Given the description of an element on the screen output the (x, y) to click on. 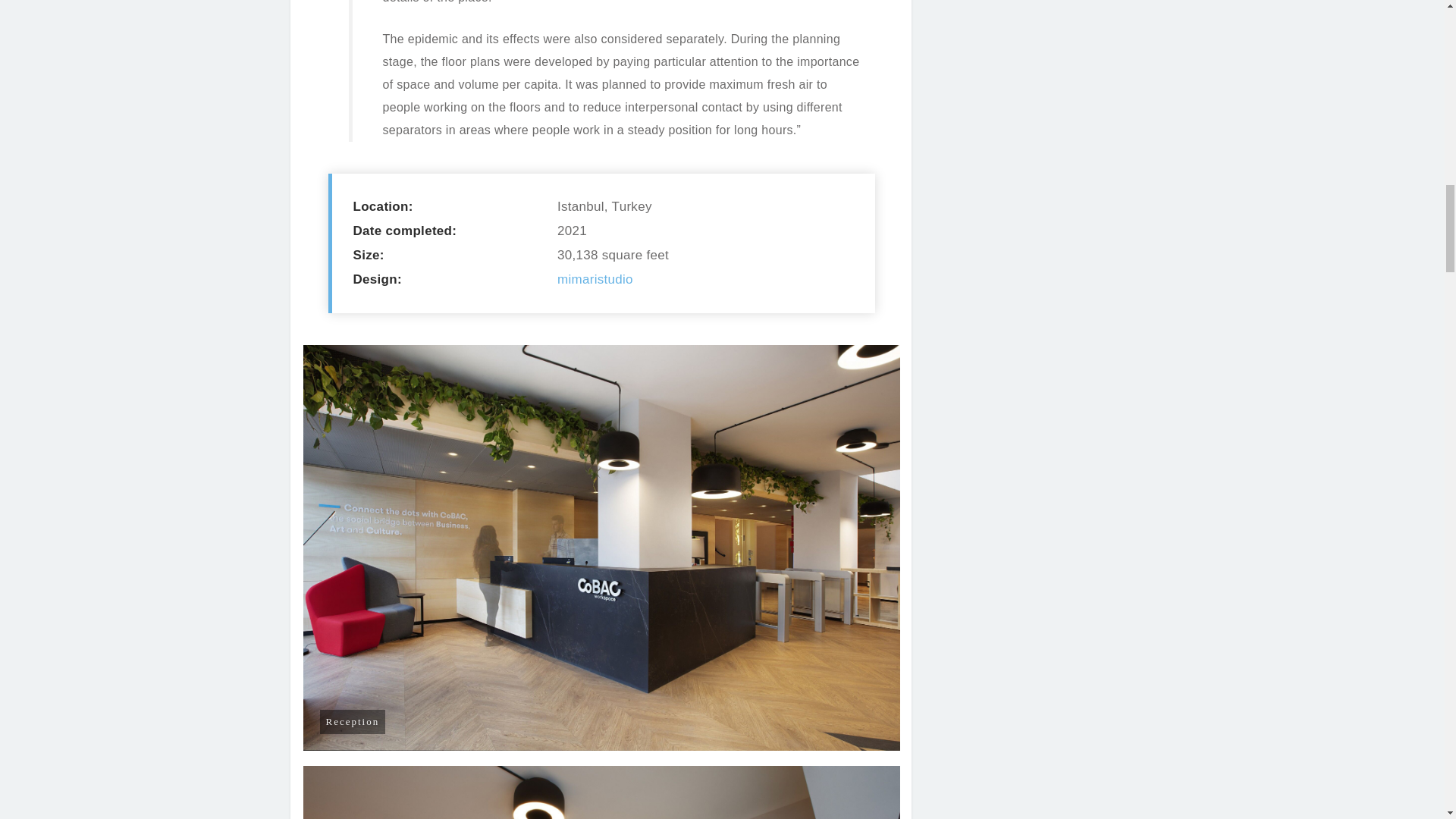
Corridor (601, 792)
